Given the description of an element on the screen output the (x, y) to click on. 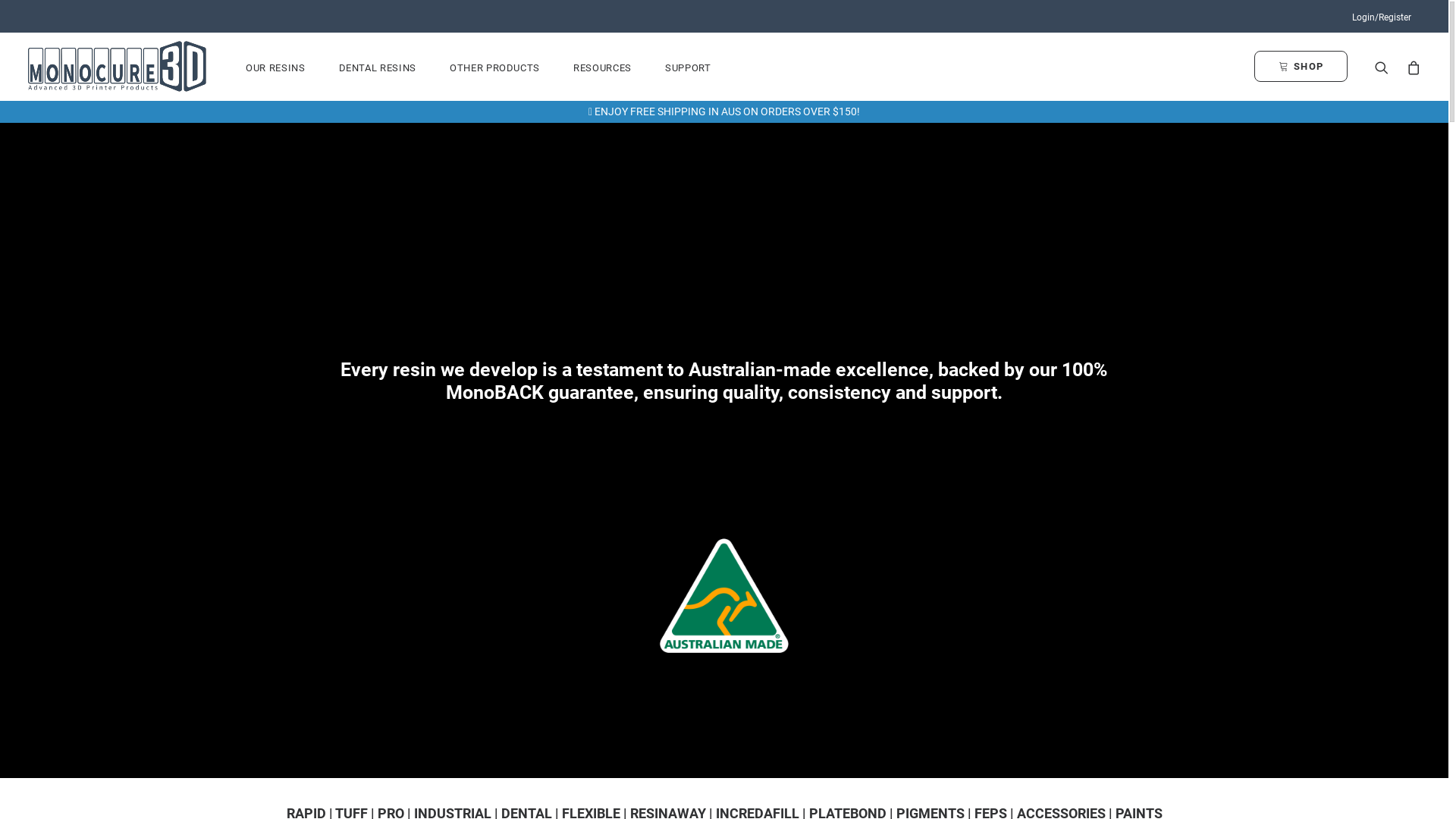
SHOP Element type: text (1304, 65)
Login/Register Element type: text (1381, 17)
DENTAL RESINS Element type: text (376, 68)
OUR RESINS Element type: text (275, 68)
RESOURCES Element type: text (602, 68)
OTHER PRODUCTS Element type: text (494, 68)
cart Element type: hover (1410, 66)
Search Now Element type: hover (1385, 66)
SUPPORT Element type: text (680, 68)
